Given the description of an element on the screen output the (x, y) to click on. 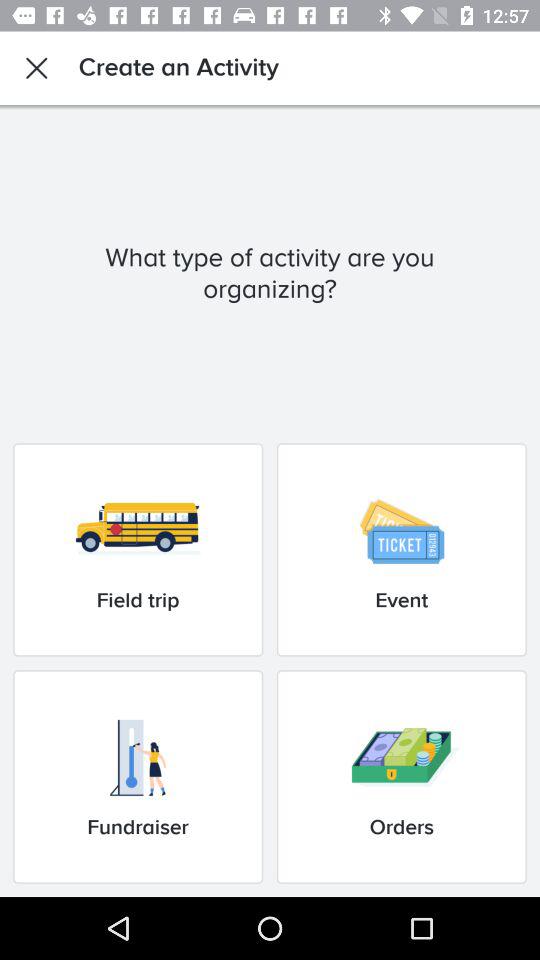
tap the orders item (401, 776)
